Given the description of an element on the screen output the (x, y) to click on. 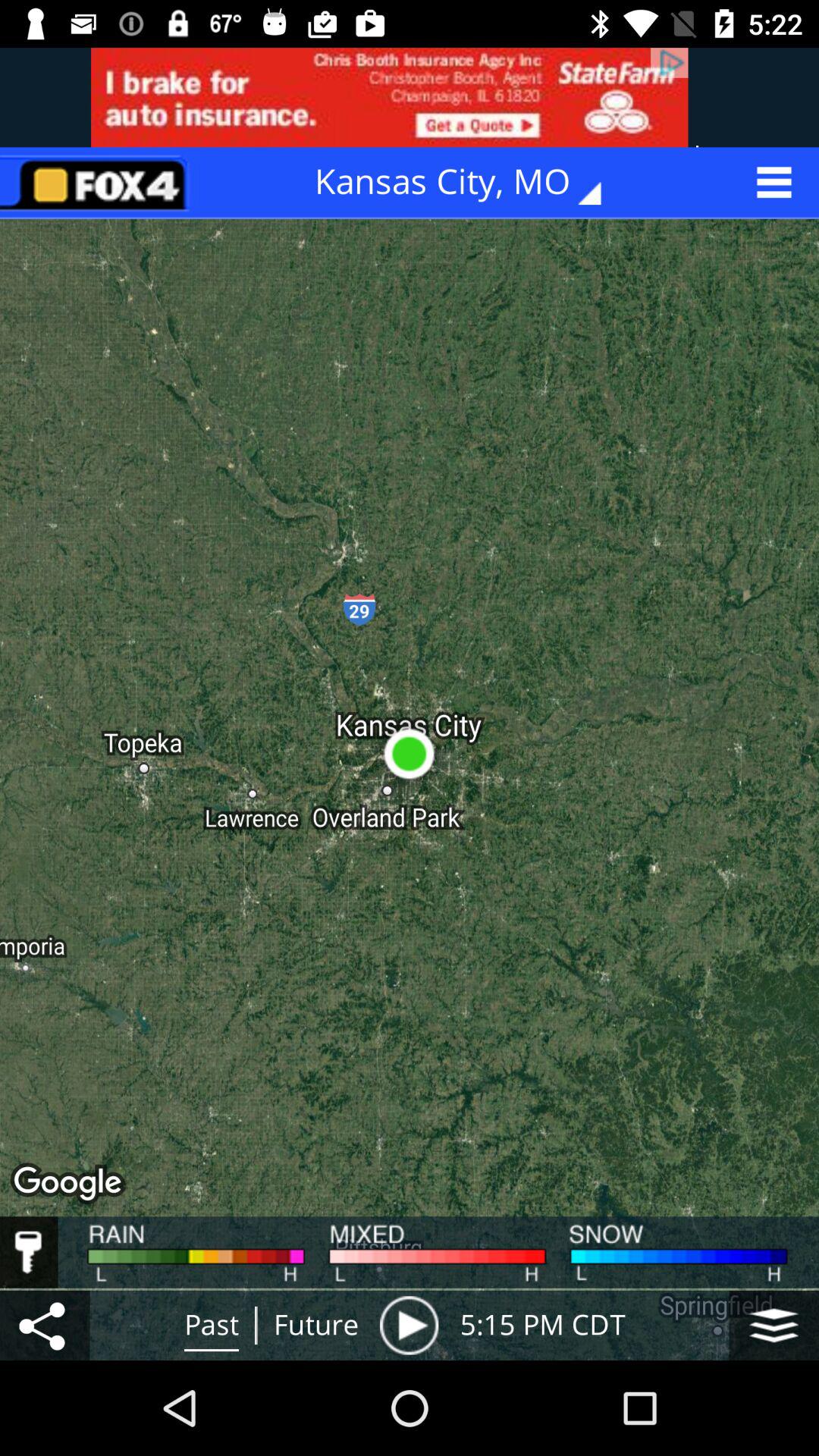
unpause (409, 1325)
